Given the description of an element on the screen output the (x, y) to click on. 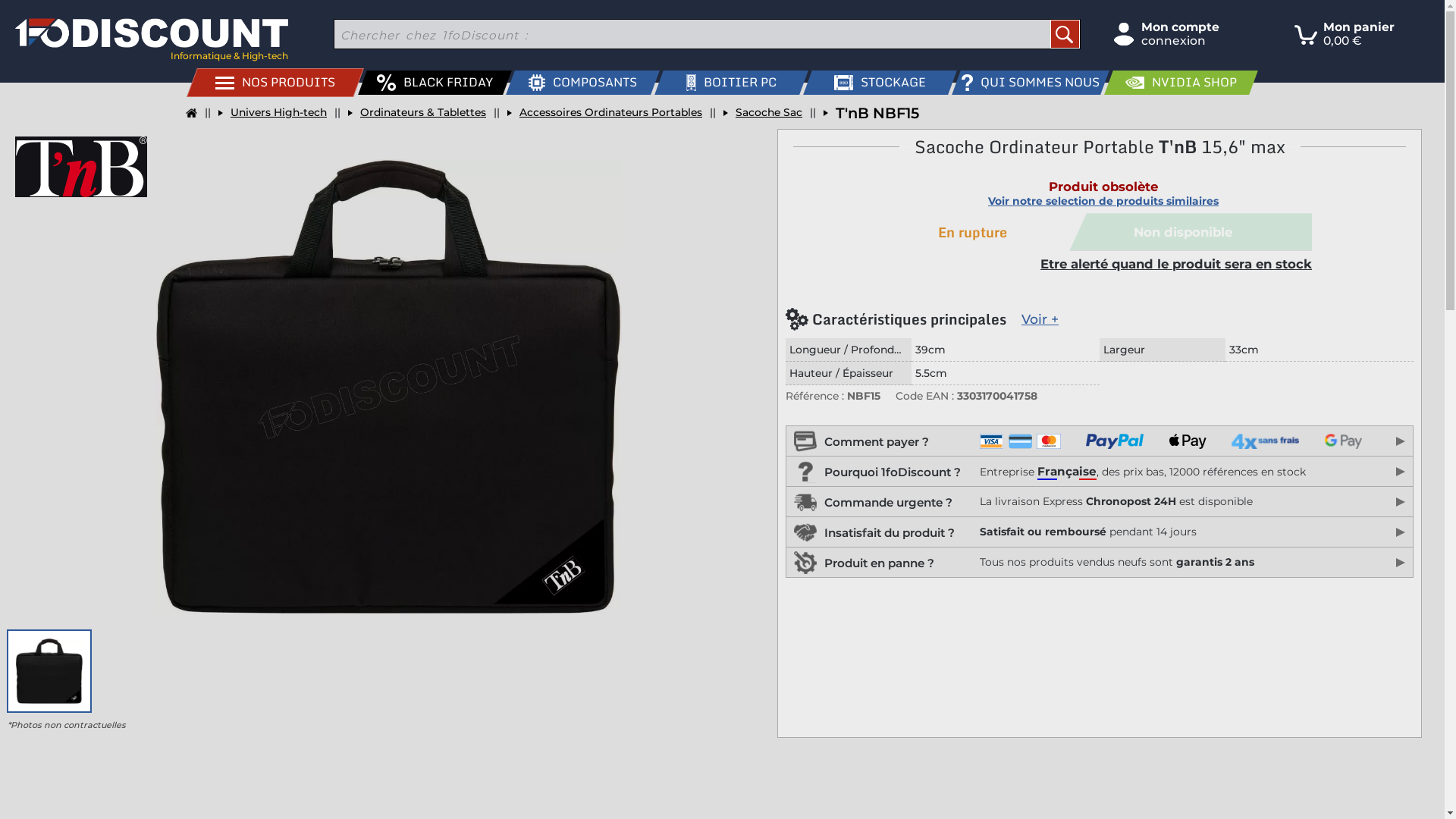
Sacoche Sac Element type: text (762, 112)
COMPOSANTS Element type: text (577, 82)
BOITIER PC Element type: text (725, 82)
QUI SOMMES NOUS Element type: text (1024, 82)
Ordinateurs & Tablettes Element type: text (416, 112)
Univers High-tech Element type: text (272, 112)
BLACK FRIDAY Element type: text (429, 82)
STOCKAGE Element type: text (874, 82)
Afficher cette photo Element type: hover (49, 670)
NVIDIA SHOP Element type: text (1175, 82)
Accessoires Ordinateurs Portables Element type: text (604, 112)
NOS PRODUITS Element type: text (269, 82)
